Given the description of an element on the screen output the (x, y) to click on. 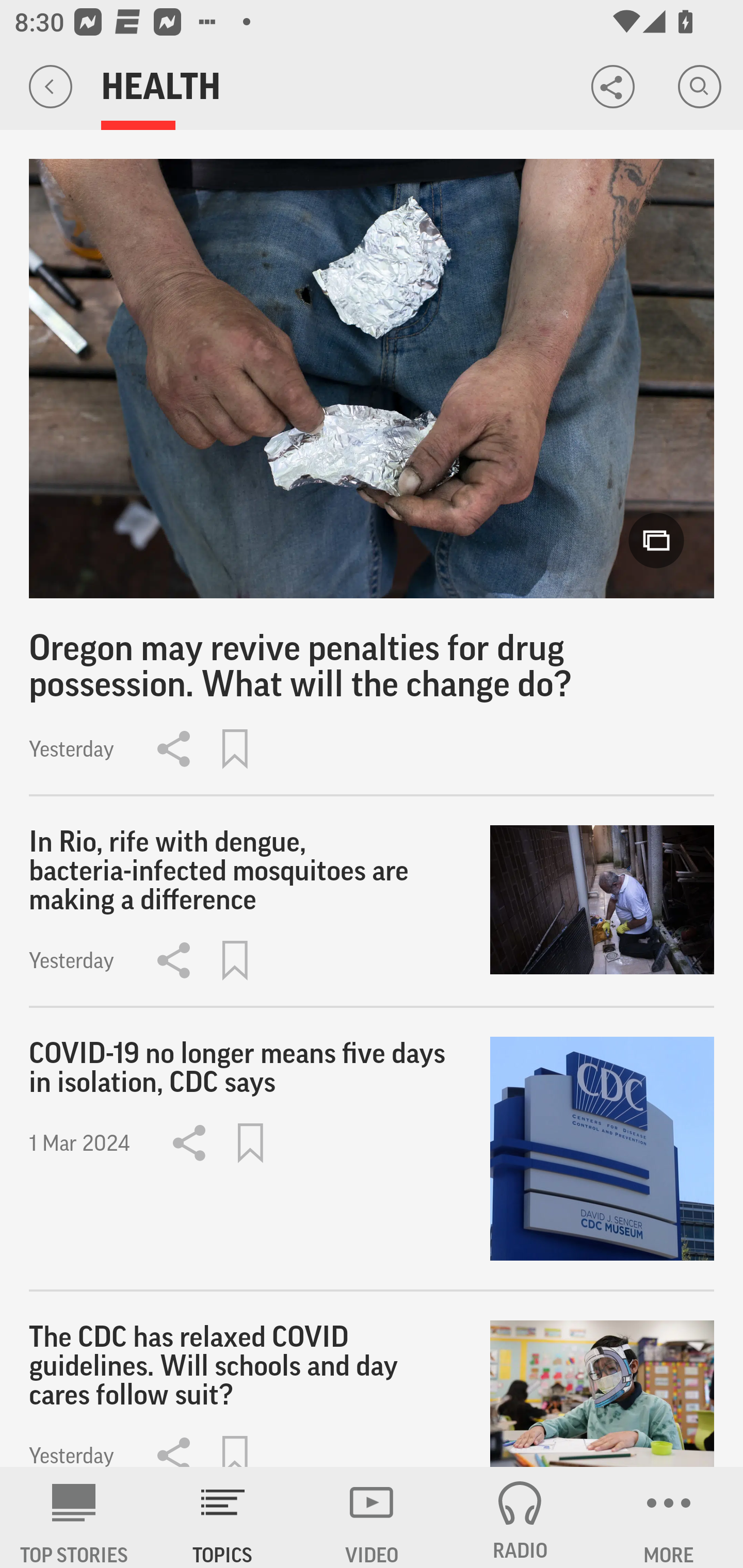
AP News TOP STORIES (74, 1517)
TOPICS (222, 1517)
VIDEO (371, 1517)
RADIO (519, 1517)
MORE (668, 1517)
